Given the description of an element on the screen output the (x, y) to click on. 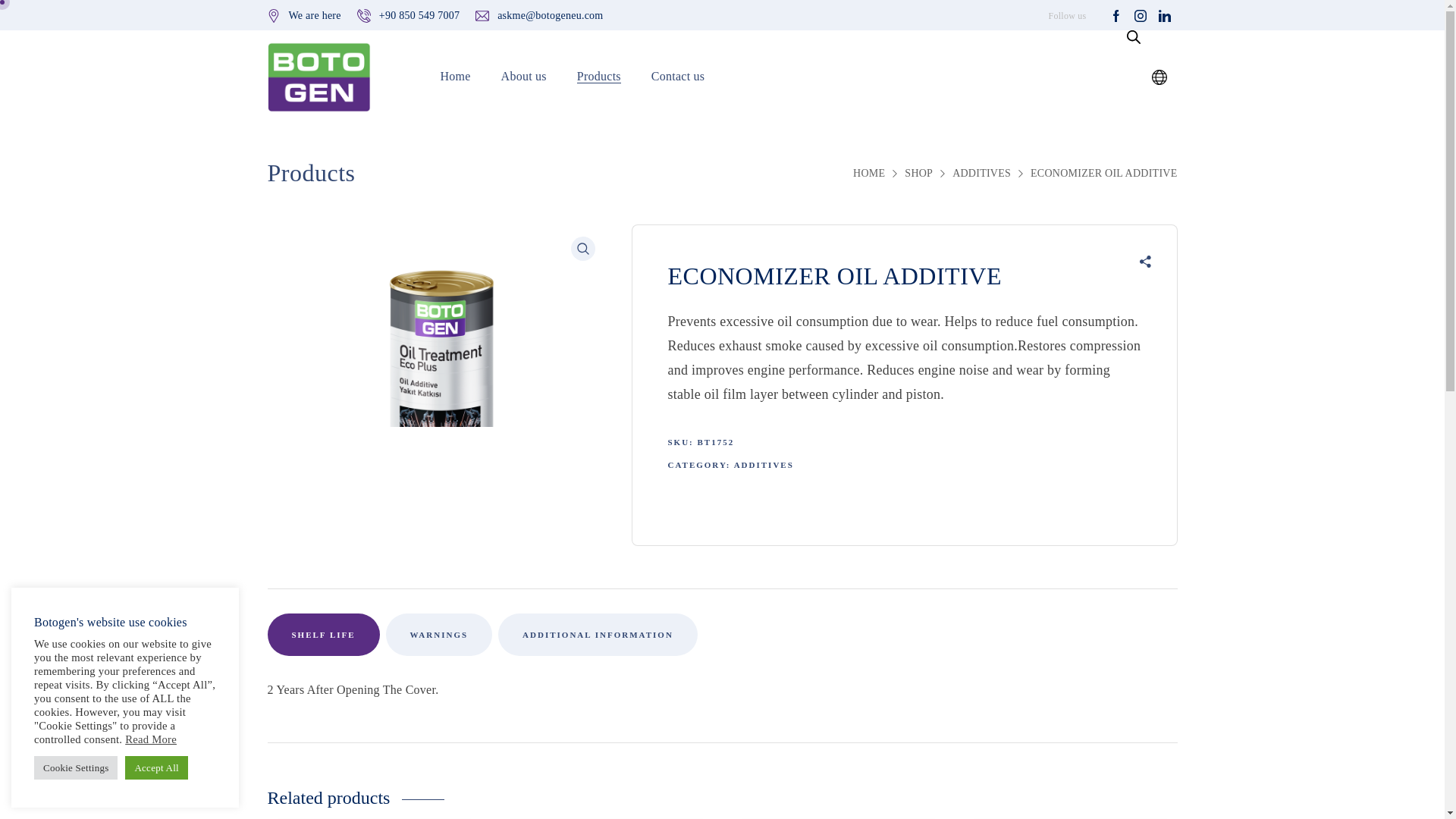
instagram (1140, 15)
We are here (314, 14)
facebook (1115, 15)
linkedin (1164, 15)
BT1752.png (436, 394)
